Given the description of an element on the screen output the (x, y) to click on. 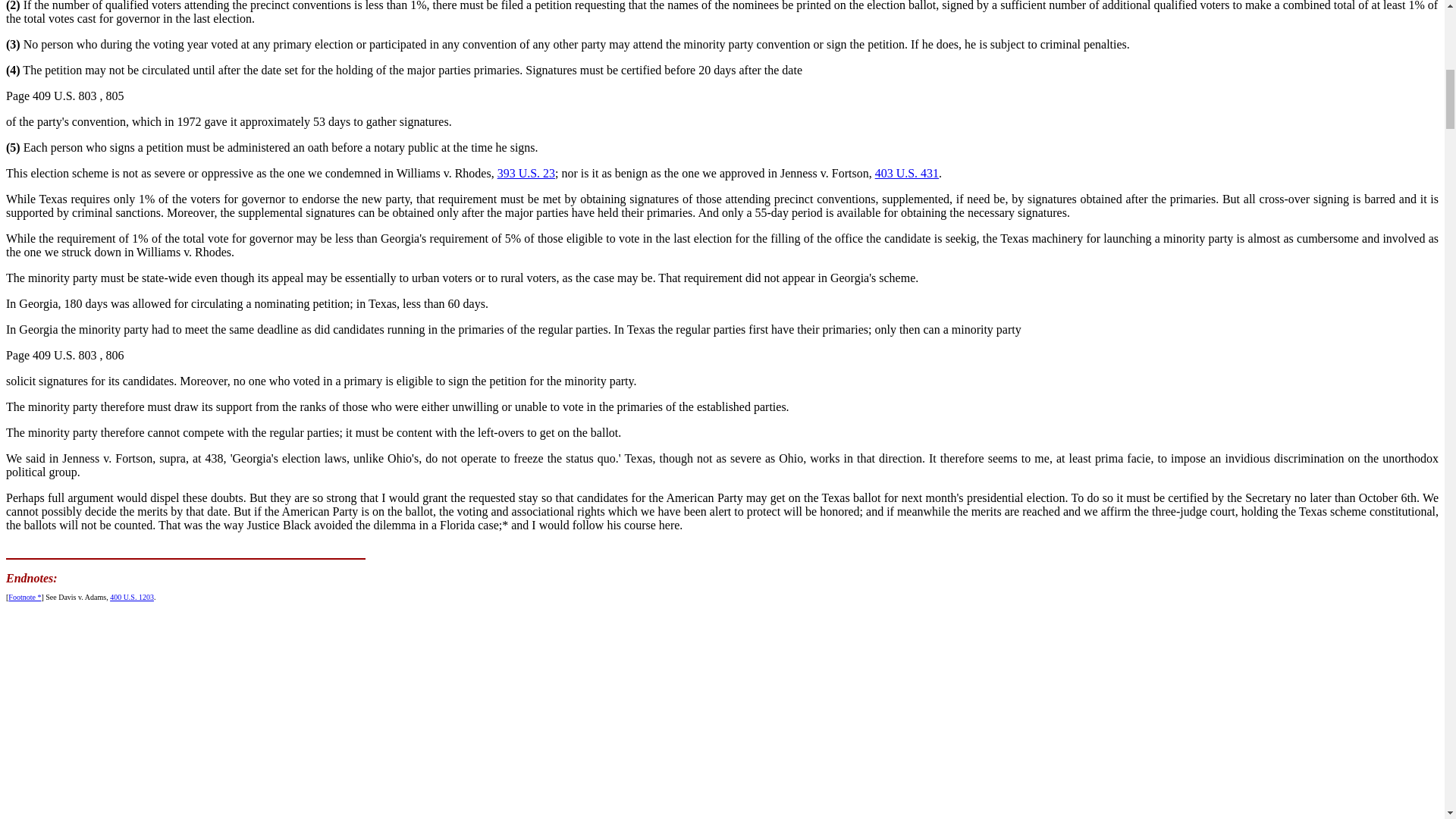
400 U.S. 1203 (132, 596)
Page 409 U.S. 803 , 805 (64, 95)
Page 409 U.S. 803 , 806 (64, 354)
403 U.S. 431 (907, 173)
393 U.S. 23 (525, 173)
